Given the description of an element on the screen output the (x, y) to click on. 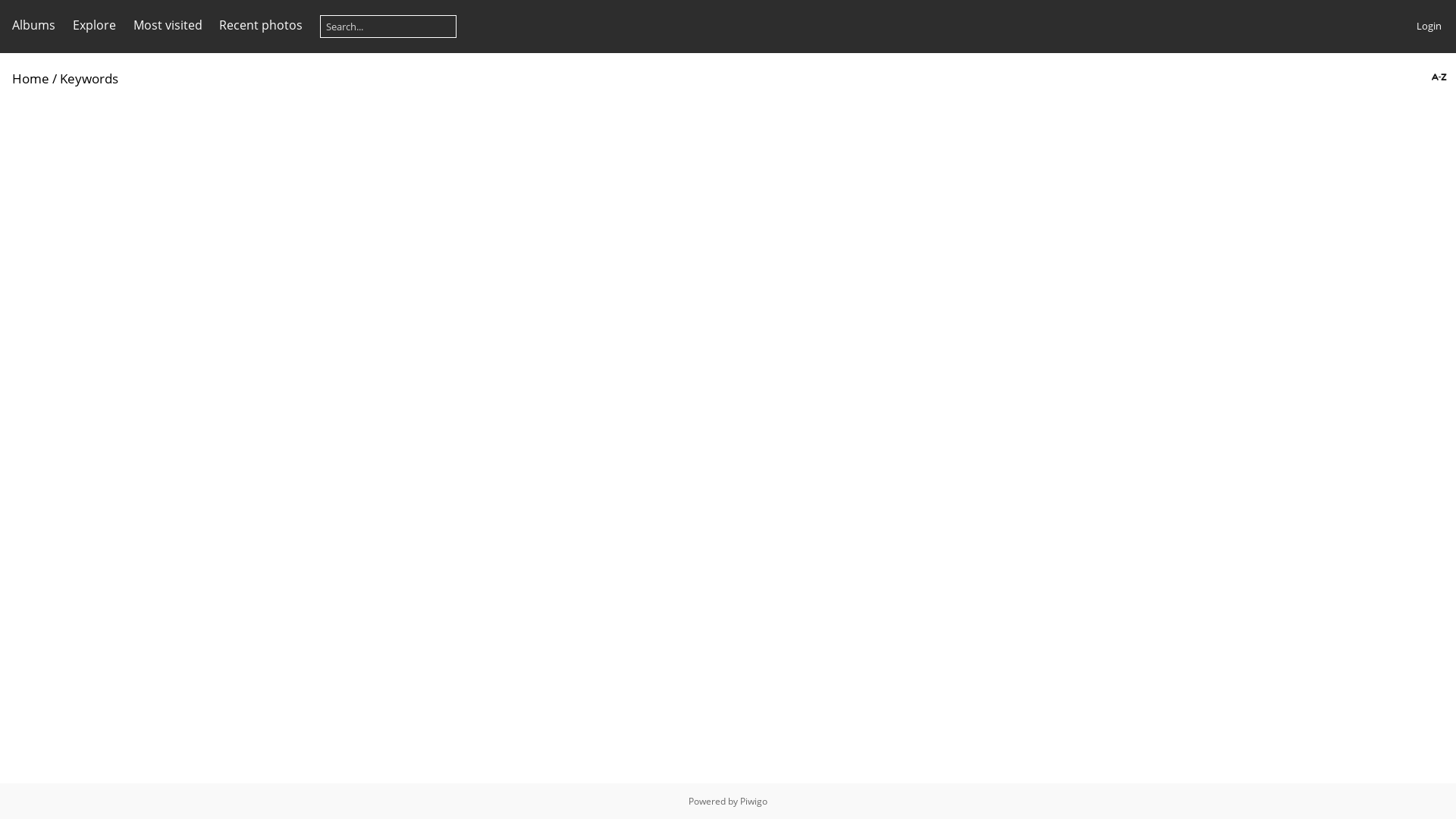
Explore Element type: text (94, 24)
Home Element type: text (30, 78)
Most visited Element type: text (167, 24)
group by letters Element type: hover (1437, 77)
Albums Element type: text (33, 24)
Piwigo Element type: text (753, 800)
Recent photos Element type: text (260, 24)
Login Element type: text (1428, 25)
